Given the description of an element on the screen output the (x, y) to click on. 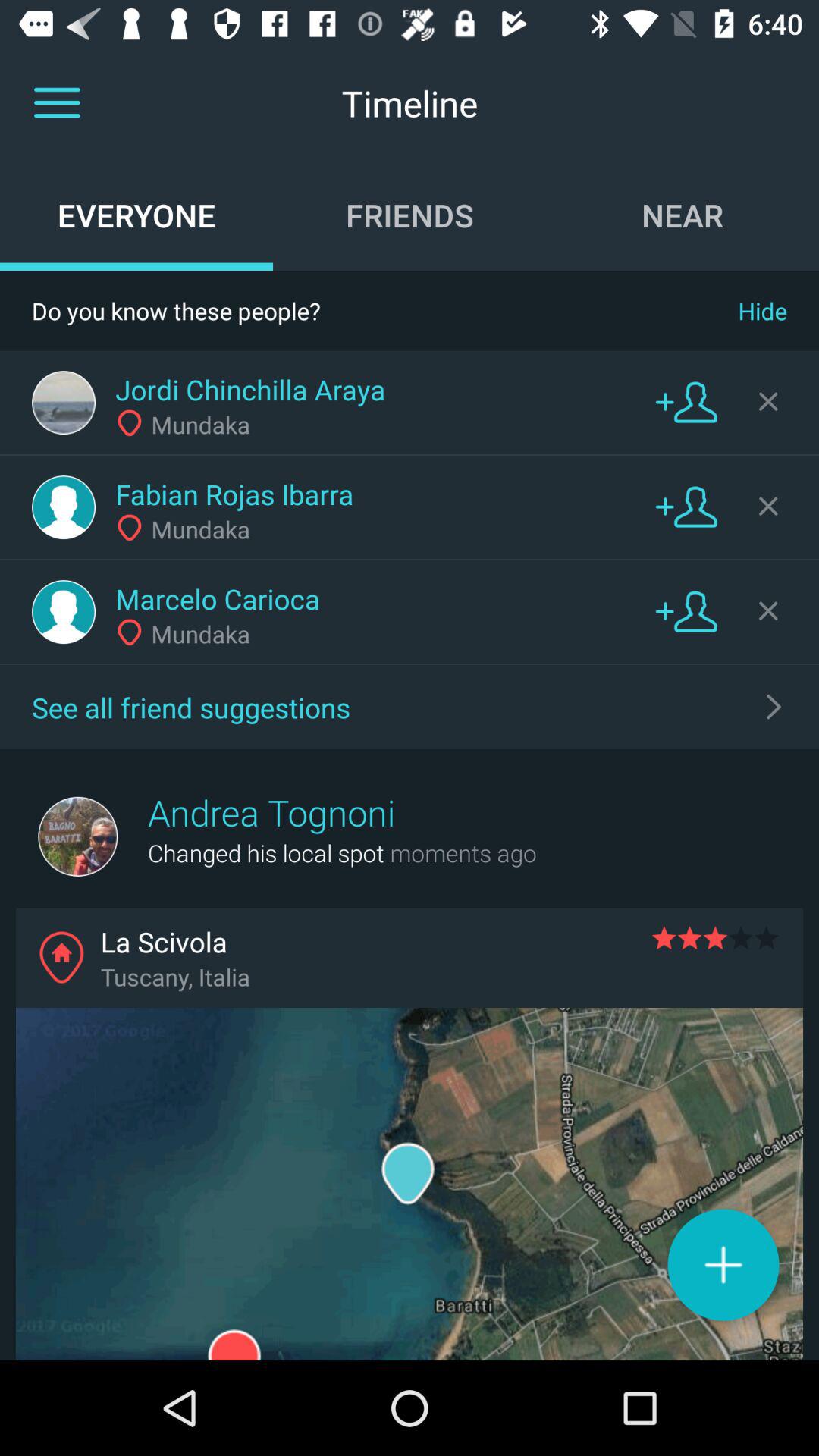
profile button (63, 402)
